Given the description of an element on the screen output the (x, y) to click on. 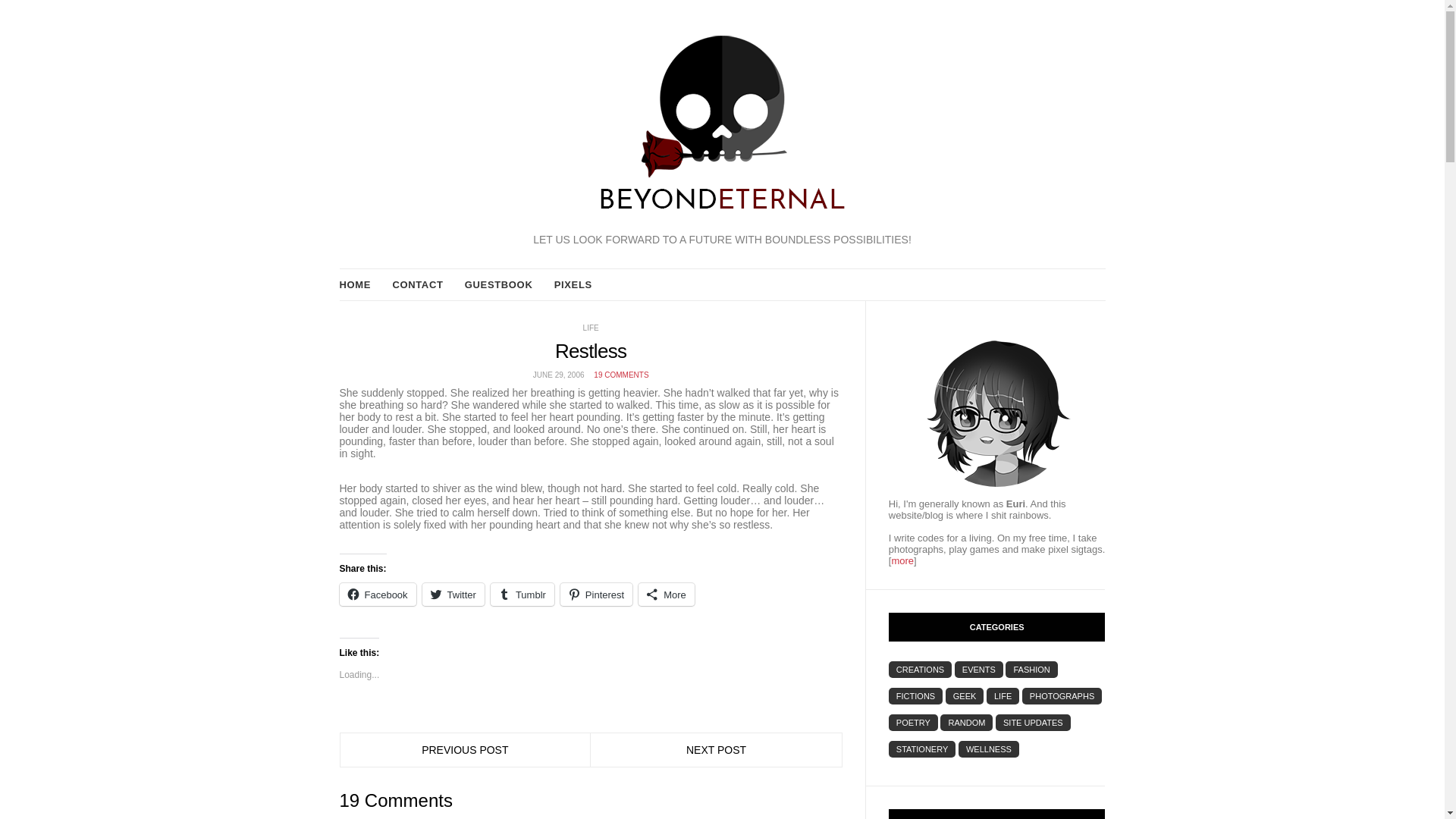
19 COMMENTS (620, 375)
PREVIOUS POST (465, 749)
Twitter (453, 594)
GUESTBOOK (498, 284)
HOME (355, 284)
More (666, 594)
NEXT POST (716, 749)
Click to share on Tumblr (522, 594)
Click to share on Pinterest (595, 594)
Click to share on Facebook (377, 594)
CONTACT (416, 284)
LIFE (590, 327)
Tumblr (522, 594)
Click to share on Twitter (453, 594)
PIXELS (573, 284)
